Given the description of an element on the screen output the (x, y) to click on. 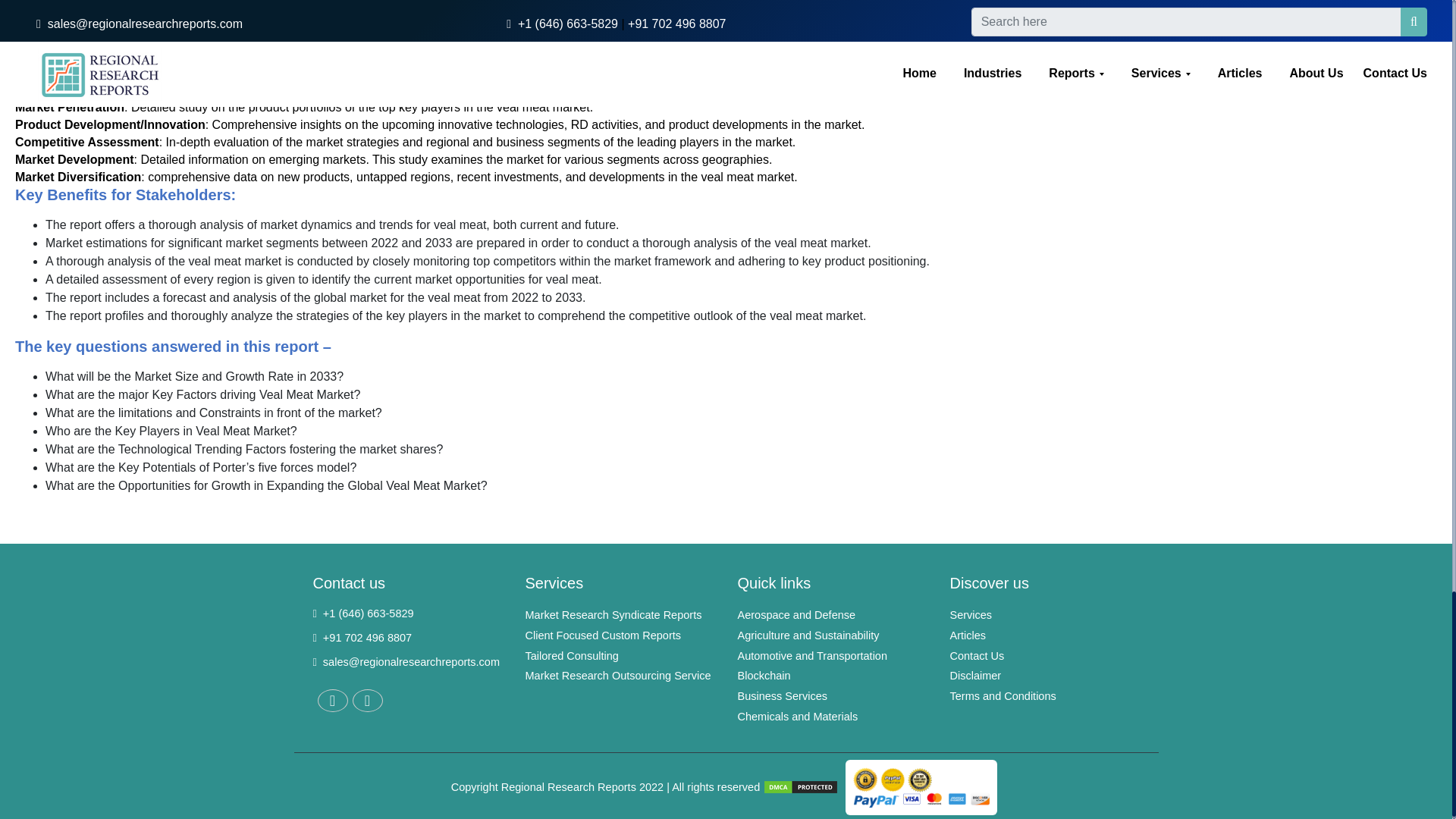
Secure By Paypal (921, 786)
DMCA.com Protection Status (800, 786)
